Given the description of an element on the screen output the (x, y) to click on. 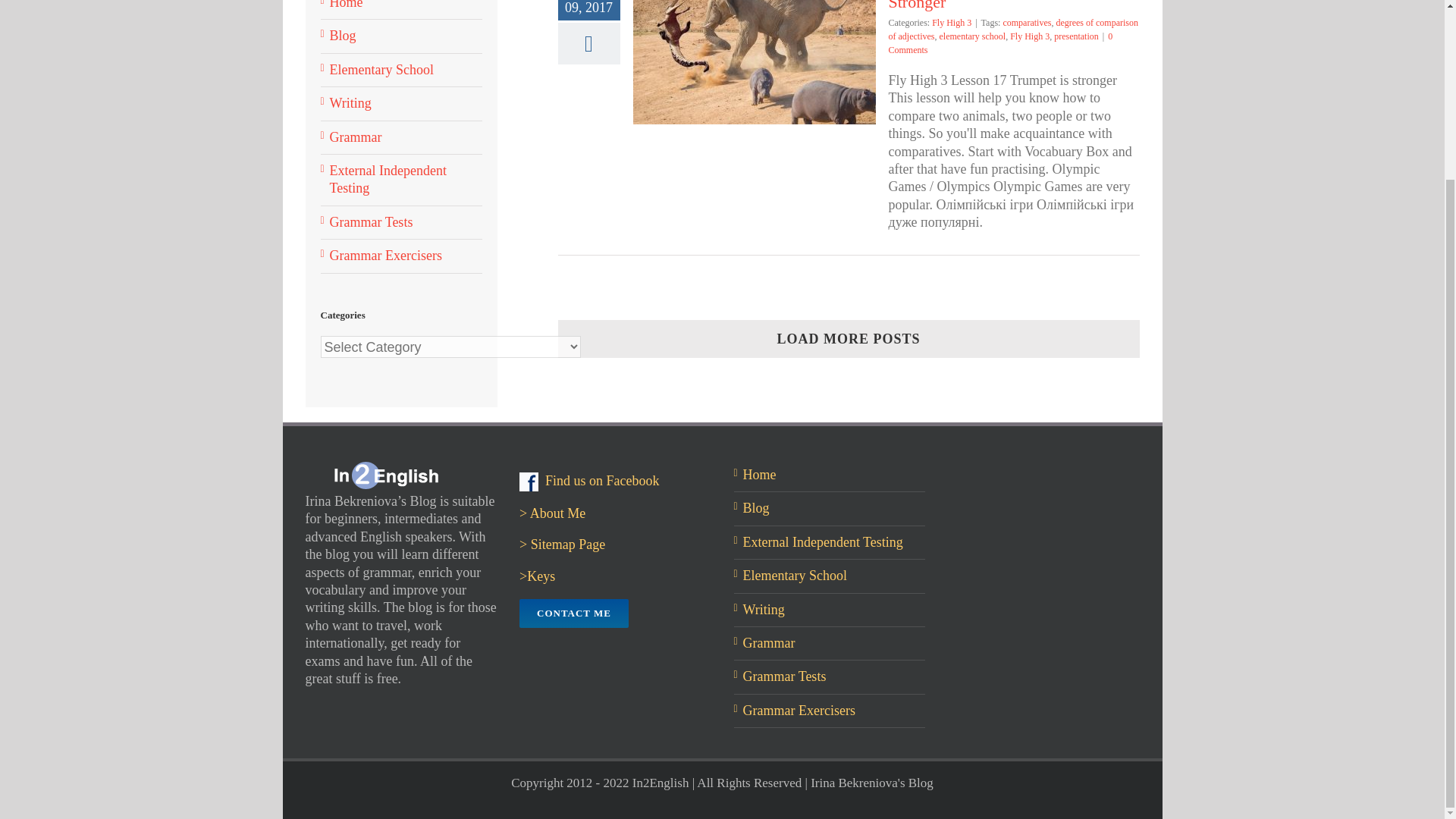
degrees of comparison of adjectives (1013, 29)
Grammar (355, 136)
Elementary School (380, 69)
Writing (350, 102)
Grammar Exercisers (385, 255)
presentation (1076, 36)
Fly High 3 Lesson 17 Trumpet is Stronger (998, 5)
comparatives (1027, 22)
  Find us on Facebook (589, 480)
Grammar Tests (370, 222)
